Given the description of an element on the screen output the (x, y) to click on. 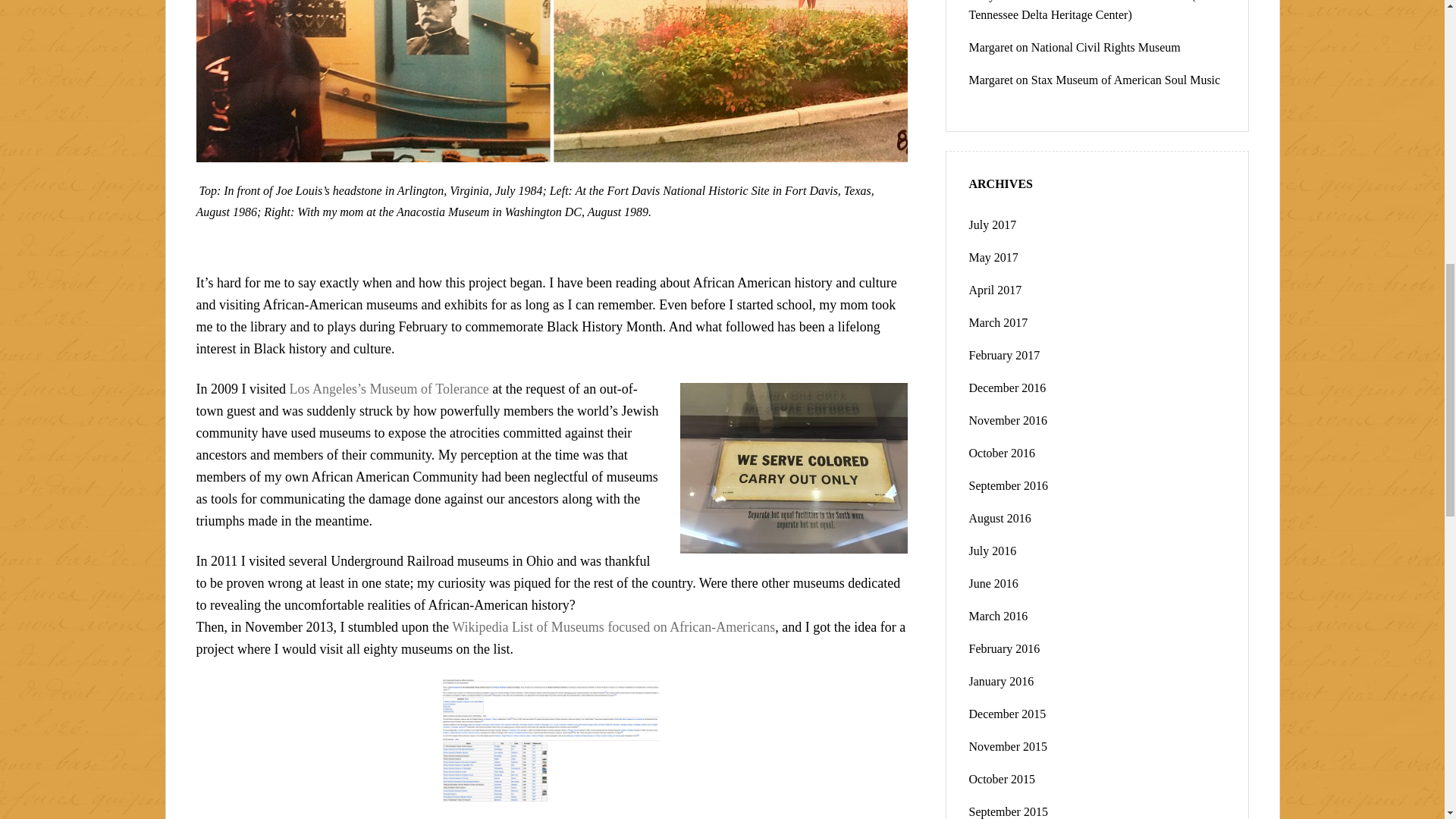
March 2017 (998, 322)
July 2017 (992, 224)
List of Museums (612, 626)
November 2016 (1008, 420)
February 2017 (1005, 354)
July 2016 (992, 550)
December 2016 (1007, 387)
April 2017 (995, 289)
National Civil Rights Museum (1105, 47)
August 2016 (999, 517)
September 2016 (1008, 485)
May 2017 (993, 256)
October 2016 (1002, 452)
Wikipedia List of Museums focused on African-Americans (612, 626)
Stax Museum of American Soul Music (1125, 79)
